Given the description of an element on the screen output the (x, y) to click on. 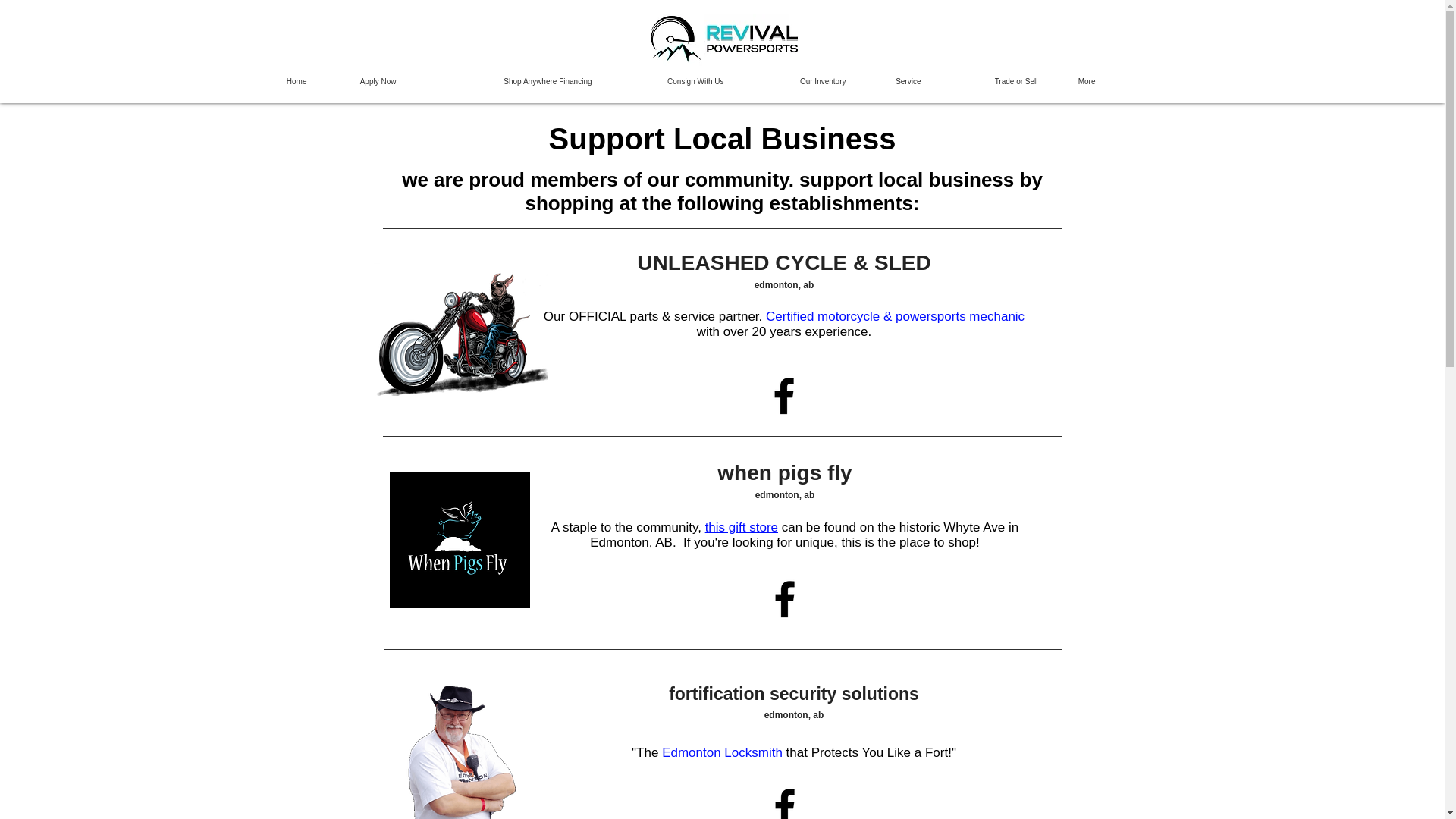
Service (894, 81)
Trade or Sell (991, 81)
this gift store (740, 527)
Shop Anywhere Financing (505, 81)
Edmonton Locksmith (722, 752)
Apply Now (362, 81)
Our Inventory (796, 81)
Home (289, 81)
Consign With Us (669, 81)
